Given the description of an element on the screen output the (x, y) to click on. 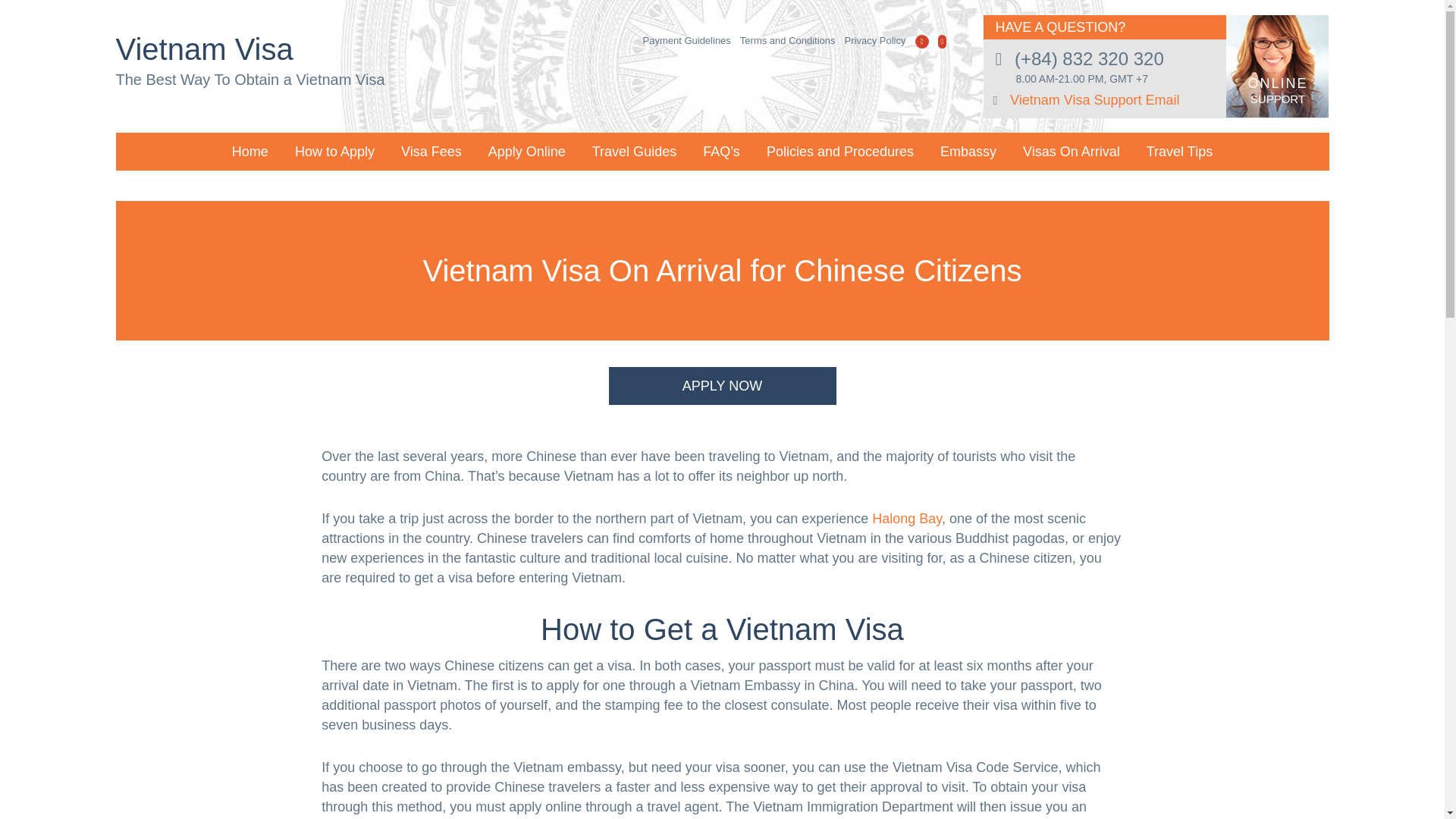
Travel Tips (1178, 151)
APPLY NOW (721, 385)
Embassy (968, 151)
Travel Guides (633, 151)
Vietnam Visa Support Email (1094, 99)
Apply Online (526, 151)
FAQ's (721, 151)
Privacy Policy (874, 40)
Travel Tips (1178, 151)
Payment Guidelines (686, 40)
